Given the description of an element on the screen output the (x, y) to click on. 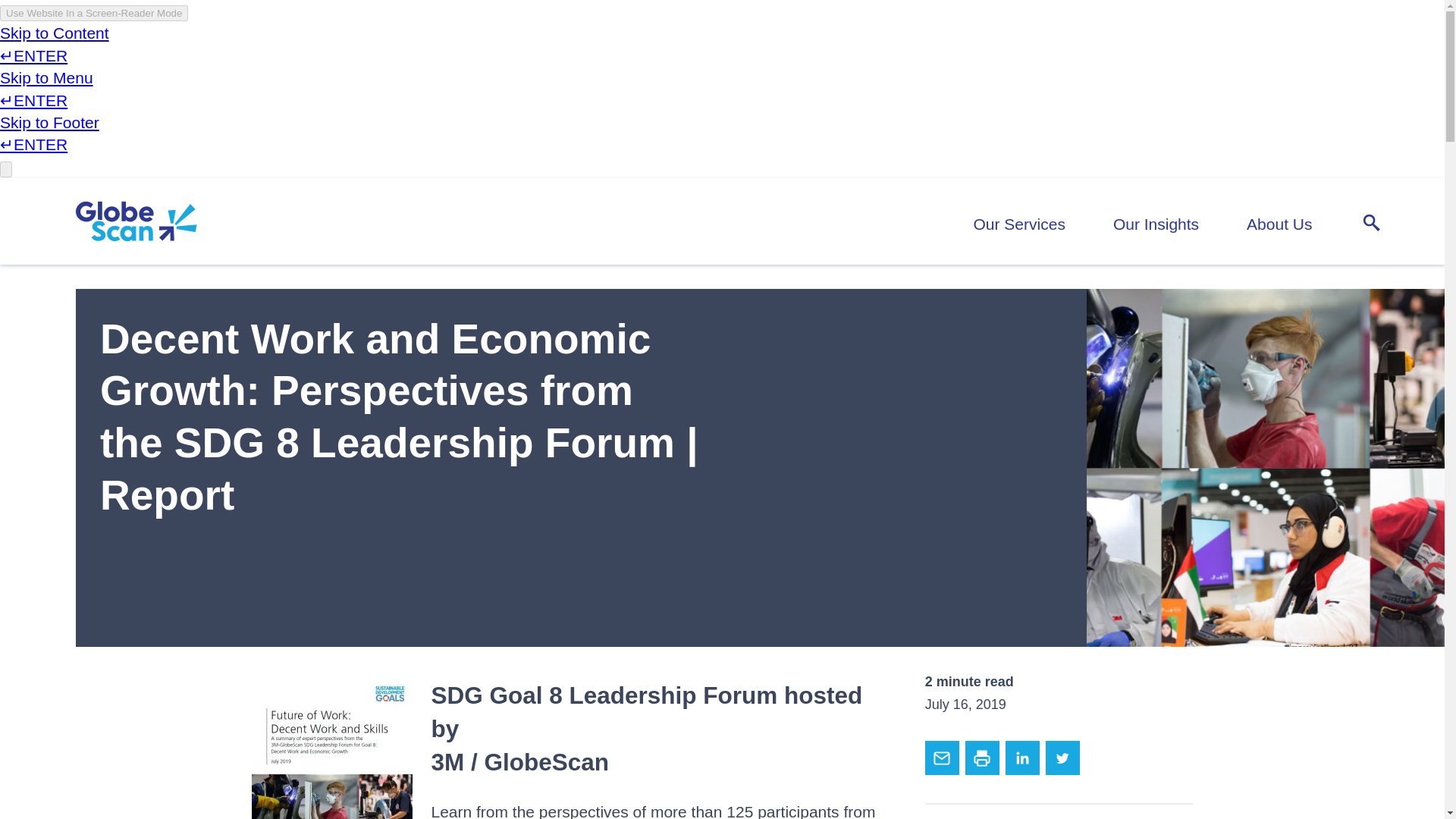
About Us (1279, 223)
July 16, 2019 (965, 703)
Email (941, 757)
Our Insights (1156, 223)
Print (981, 757)
Our Services (1019, 223)
